Given the description of an element on the screen output the (x, y) to click on. 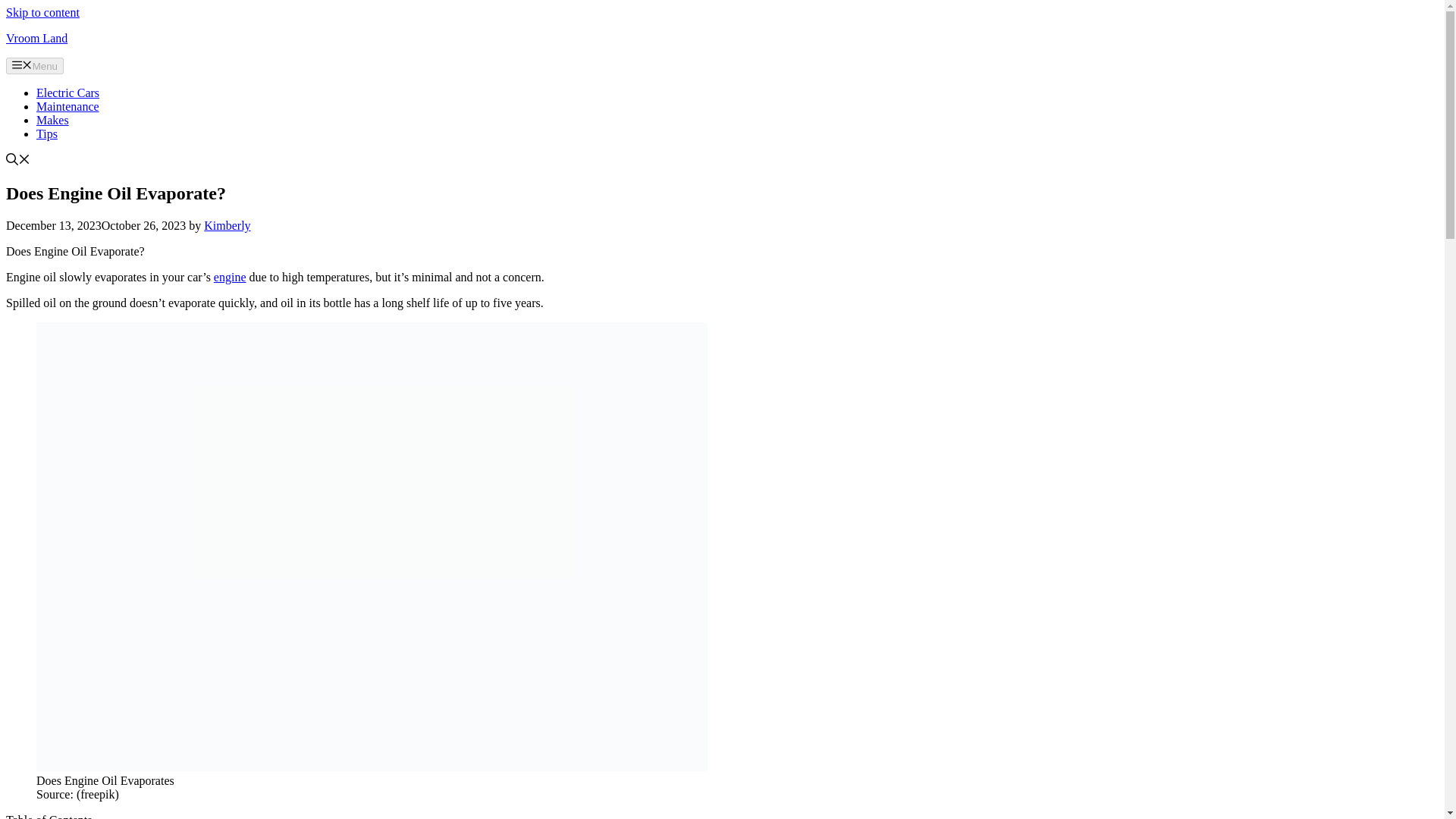
Menu (34, 65)
View all posts by Kimberly (226, 225)
Tips (47, 133)
Electric Cars (67, 92)
Kimberly (226, 225)
Skip to content (42, 11)
Vroom Land (35, 38)
Maintenance (67, 106)
Skip to content (42, 11)
Makes (52, 119)
engine (230, 277)
